Given the description of an element on the screen output the (x, y) to click on. 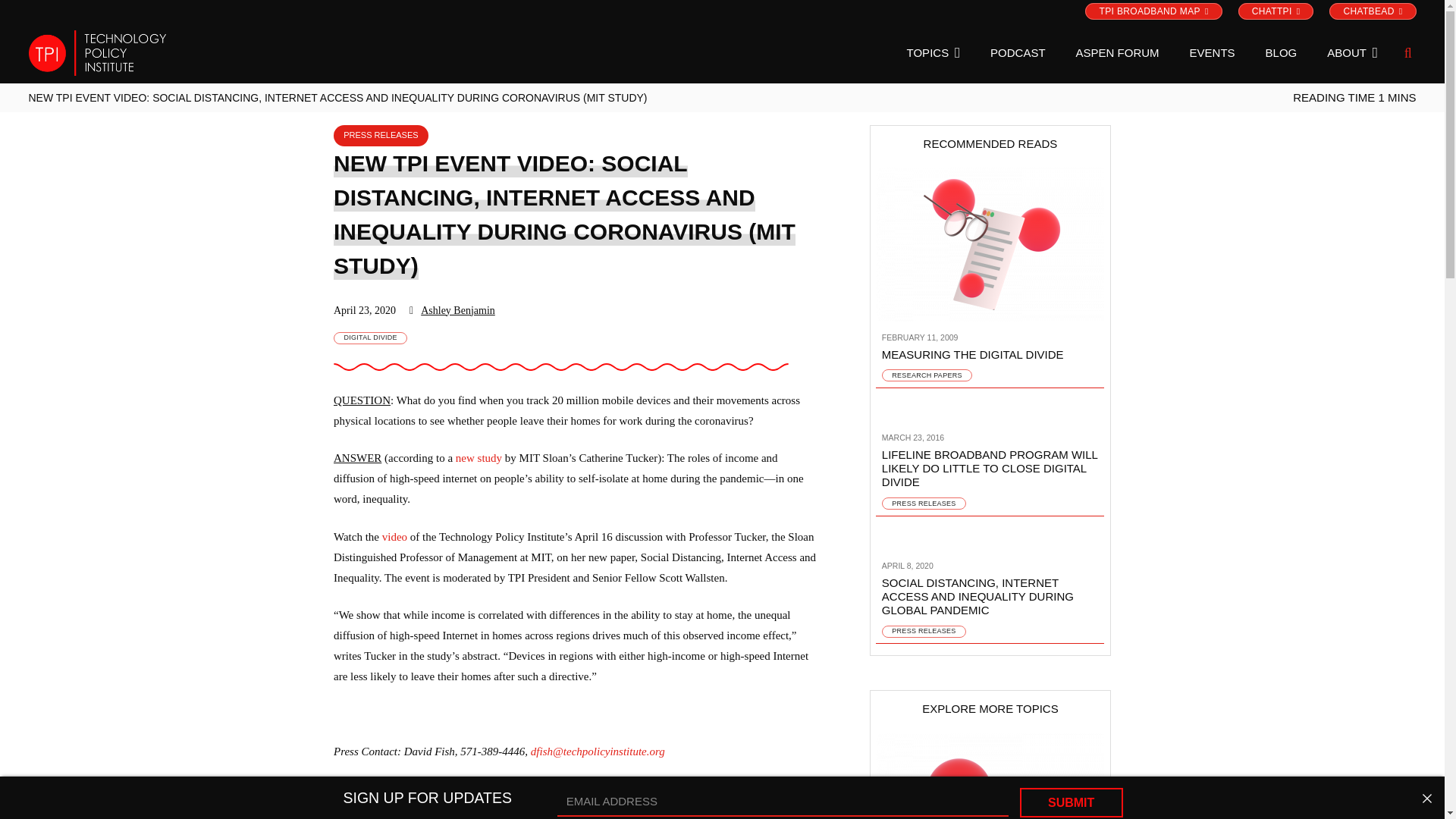
TPI BROADBAND MAP (1152, 11)
Close (1426, 798)
ABOUT (1352, 52)
Submit (1071, 802)
TOPICS (933, 52)
BLOG (1281, 52)
CHATTPI (1276, 11)
ASPEN FORUM (1117, 52)
EVENTS (1212, 52)
PODCAST (1018, 52)
CHATBEAD (1372, 11)
